Given the description of an element on the screen output the (x, y) to click on. 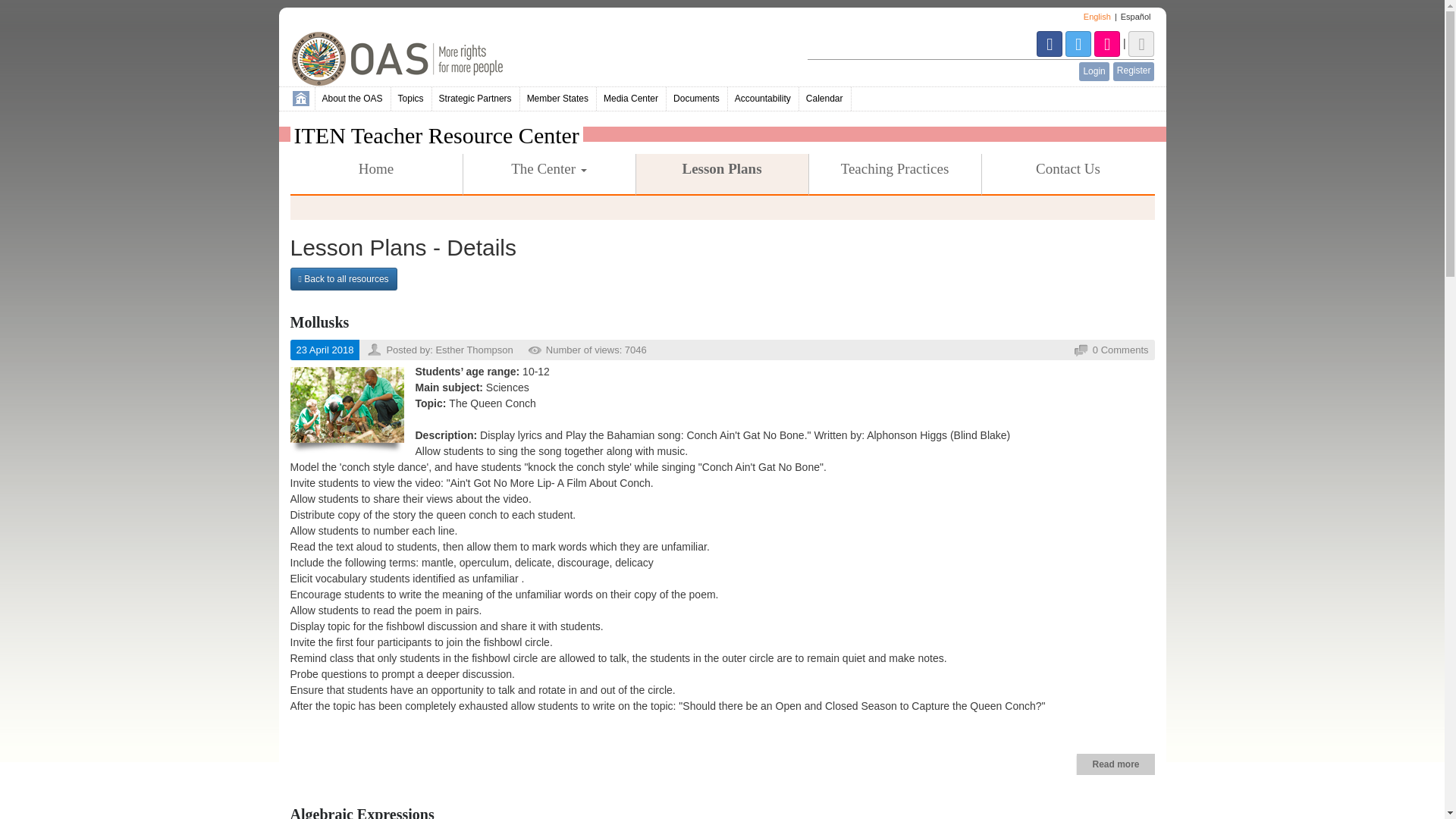
Login (1093, 70)
Organization of American States (429, 58)
Topics (411, 98)
Register (1133, 71)
Register (1133, 71)
About the OAS (353, 98)
Login (1093, 70)
